Given the description of an element on the screen output the (x, y) to click on. 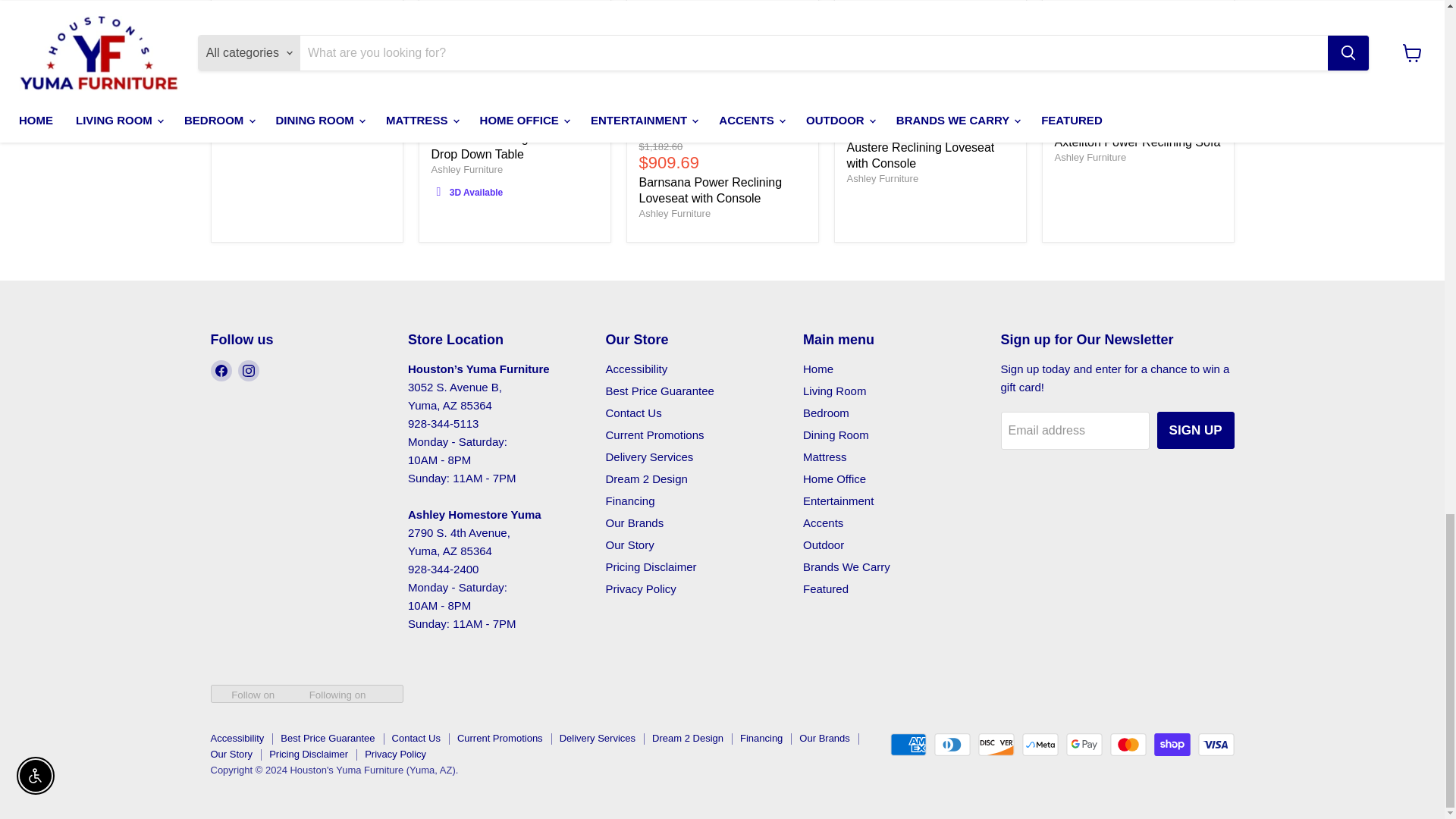
Ashley Furniture (881, 178)
Ashley Furniture (466, 169)
Ashley Furniture (1089, 156)
Ashley Furniture (258, 120)
Ashley Furniture (674, 213)
Facebook (221, 370)
